Given the description of an element on the screen output the (x, y) to click on. 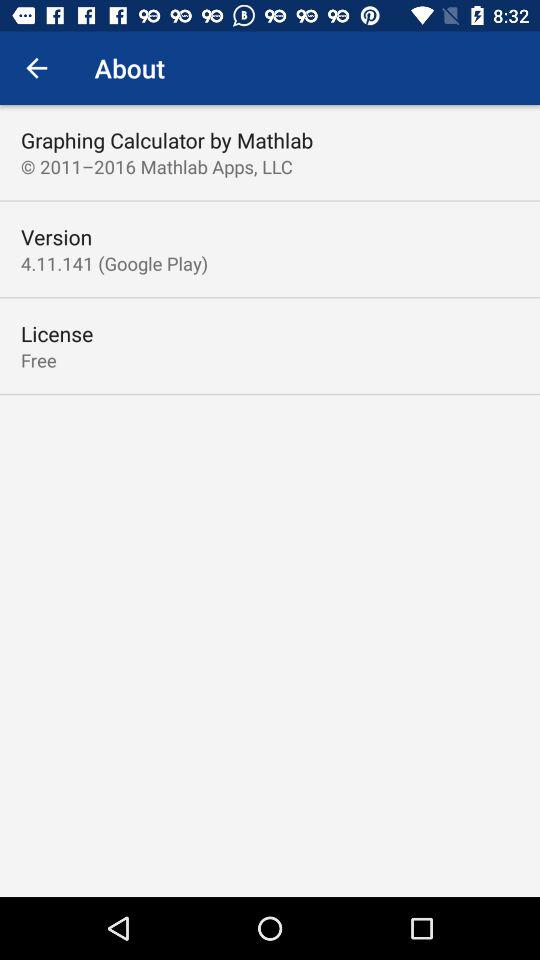
launch the 4 11 141 icon (114, 263)
